Given the description of an element on the screen output the (x, y) to click on. 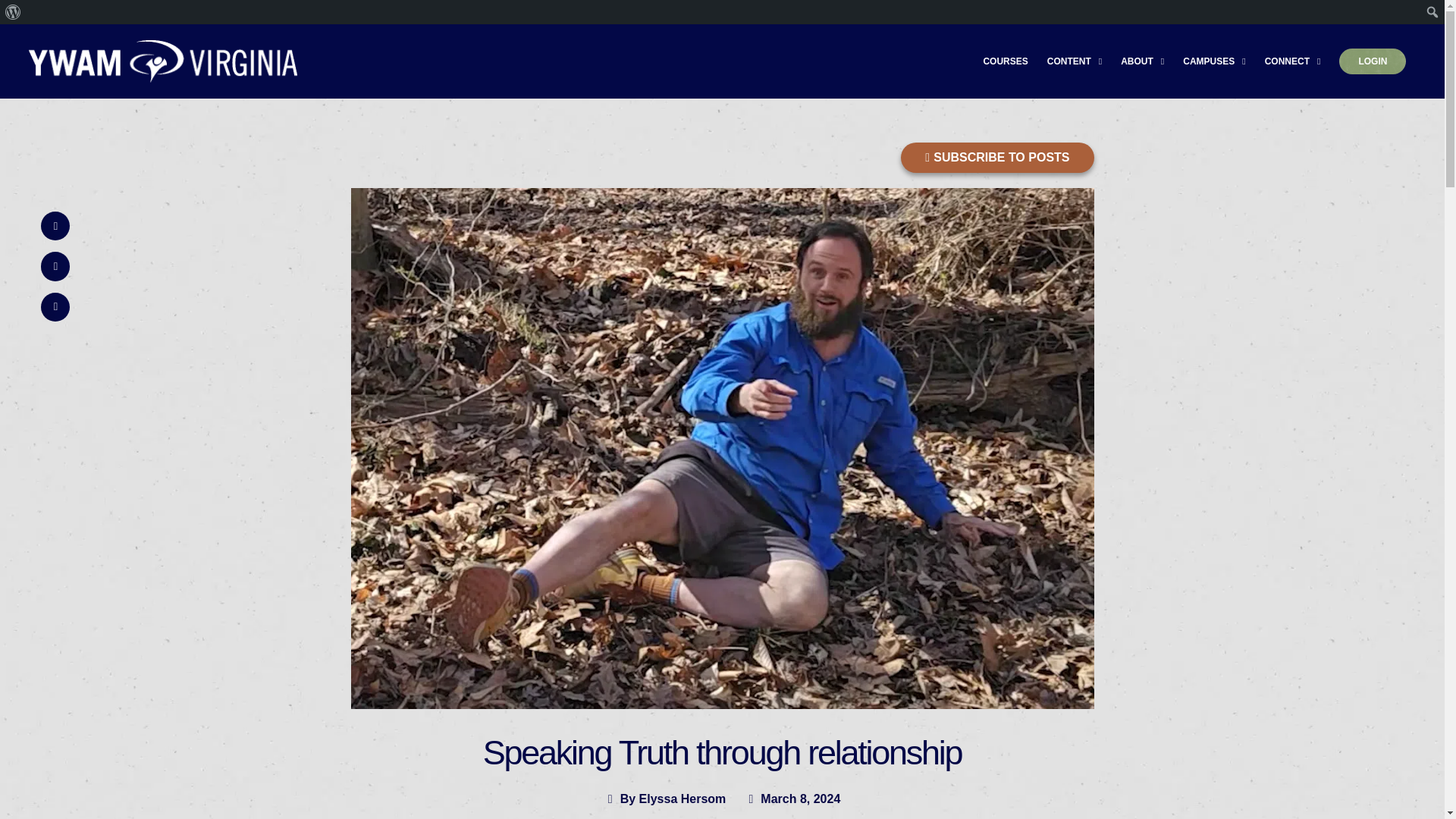
CONNECT (1292, 61)
Search (16, 12)
CONTENT (1074, 61)
ABOUT (1142, 61)
CAMPUSES (1213, 61)
COURSES (1004, 61)
LOGIN (1372, 61)
